Given the description of an element on the screen output the (x, y) to click on. 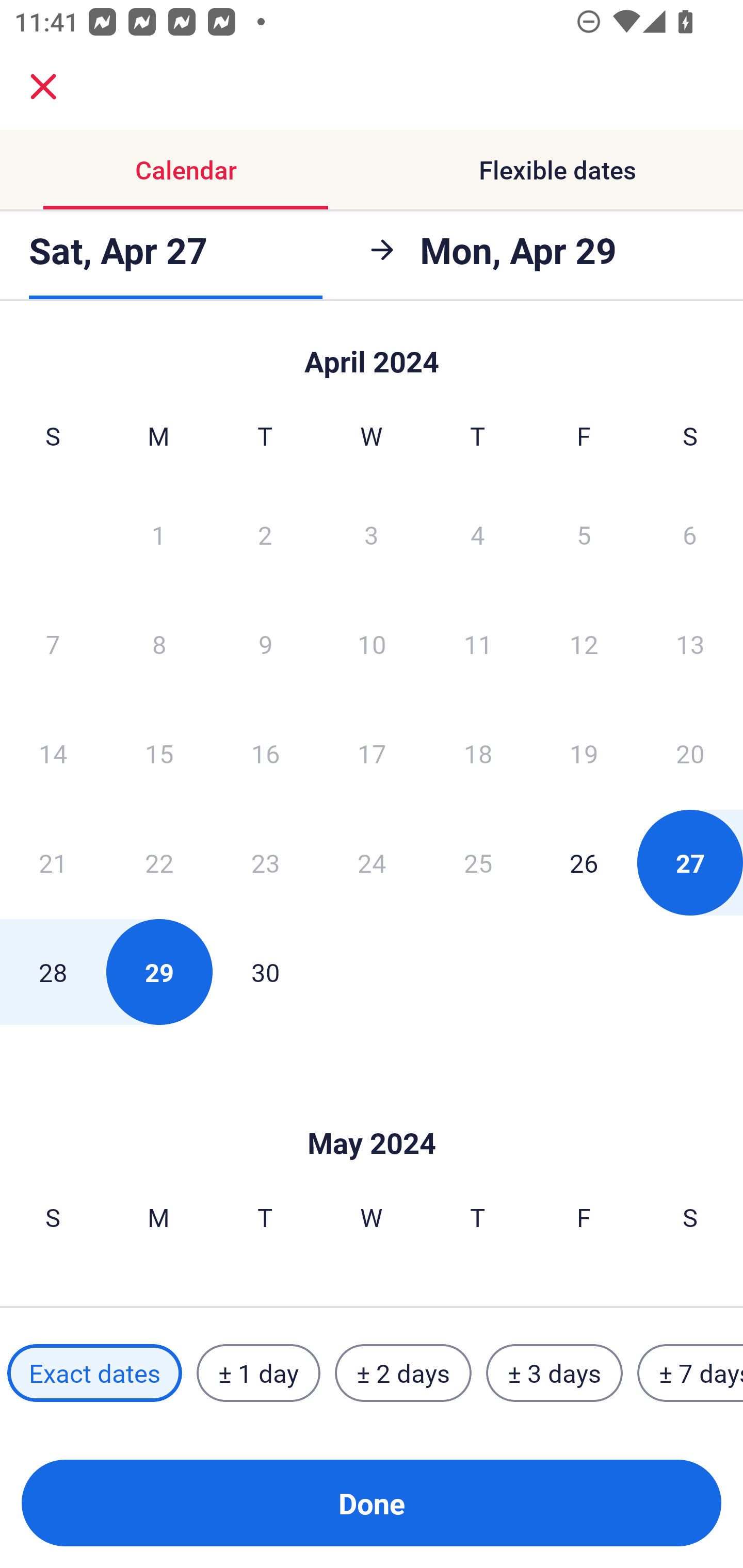
close. (43, 86)
Flexible dates (557, 170)
Skip to Done (371, 352)
1 Monday, April 1, 2024 (158, 534)
2 Tuesday, April 2, 2024 (264, 534)
3 Wednesday, April 3, 2024 (371, 534)
4 Thursday, April 4, 2024 (477, 534)
5 Friday, April 5, 2024 (583, 534)
6 Saturday, April 6, 2024 (689, 534)
7 Sunday, April 7, 2024 (53, 643)
8 Monday, April 8, 2024 (159, 643)
9 Tuesday, April 9, 2024 (265, 643)
10 Wednesday, April 10, 2024 (371, 643)
11 Thursday, April 11, 2024 (477, 643)
12 Friday, April 12, 2024 (584, 643)
13 Saturday, April 13, 2024 (690, 643)
14 Sunday, April 14, 2024 (53, 752)
15 Monday, April 15, 2024 (159, 752)
16 Tuesday, April 16, 2024 (265, 752)
17 Wednesday, April 17, 2024 (371, 752)
18 Thursday, April 18, 2024 (477, 752)
19 Friday, April 19, 2024 (584, 752)
20 Saturday, April 20, 2024 (690, 752)
21 Sunday, April 21, 2024 (53, 862)
22 Monday, April 22, 2024 (159, 862)
23 Tuesday, April 23, 2024 (265, 862)
24 Wednesday, April 24, 2024 (371, 862)
25 Thursday, April 25, 2024 (477, 862)
26 Friday, April 26, 2024 (584, 862)
30 Tuesday, April 30, 2024 (265, 971)
Skip to Done (371, 1112)
Exact dates (94, 1372)
± 1 day (258, 1372)
± 2 days (403, 1372)
± 3 days (553, 1372)
± 7 days (690, 1372)
Done (371, 1502)
